Given the description of an element on the screen output the (x, y) to click on. 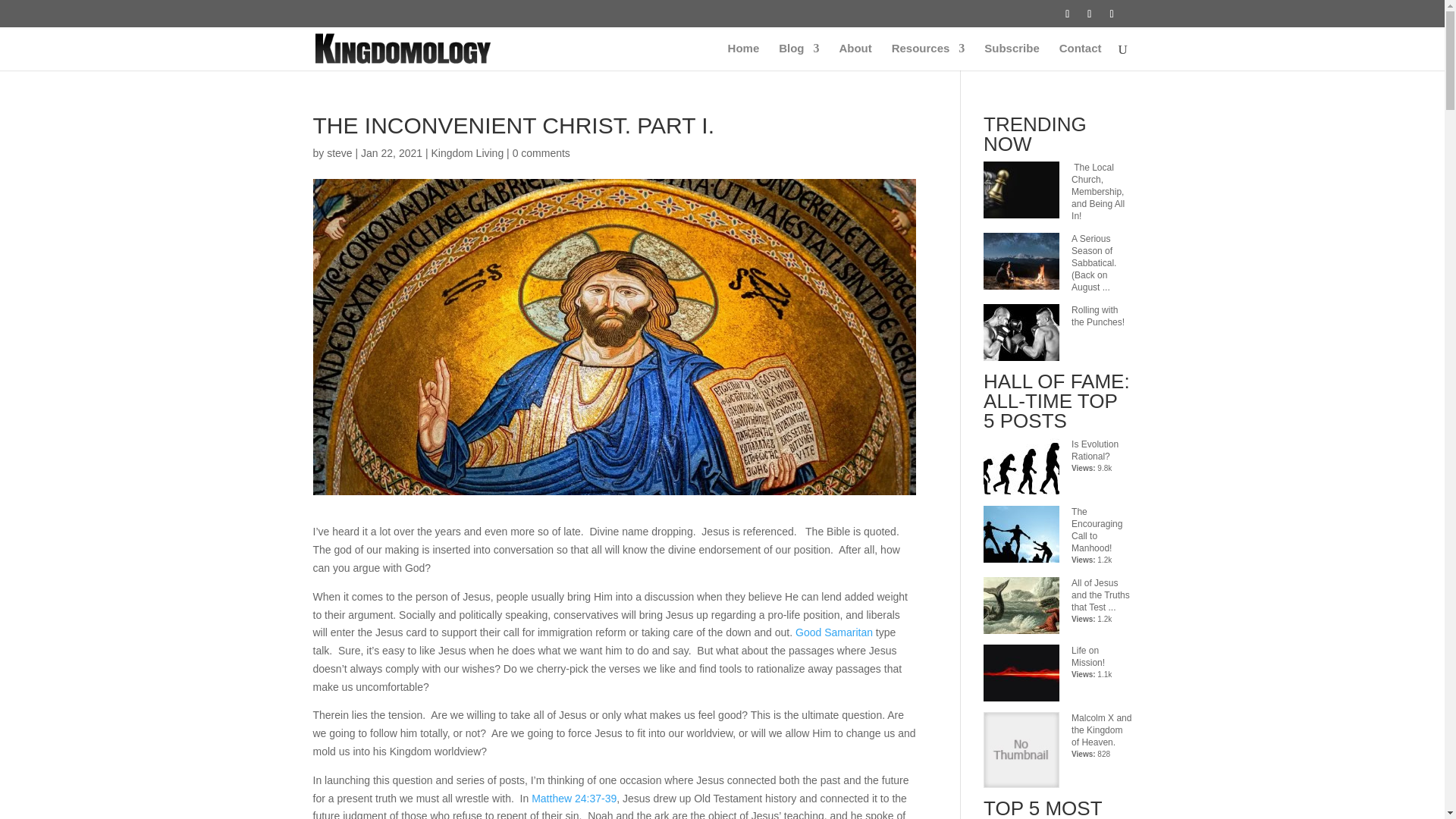
Posts by steve (339, 152)
About (854, 56)
Home (744, 56)
Resources (928, 56)
Subscribe (1011, 56)
Contact (1080, 56)
Blog (798, 56)
